Given the description of an element on the screen output the (x, y) to click on. 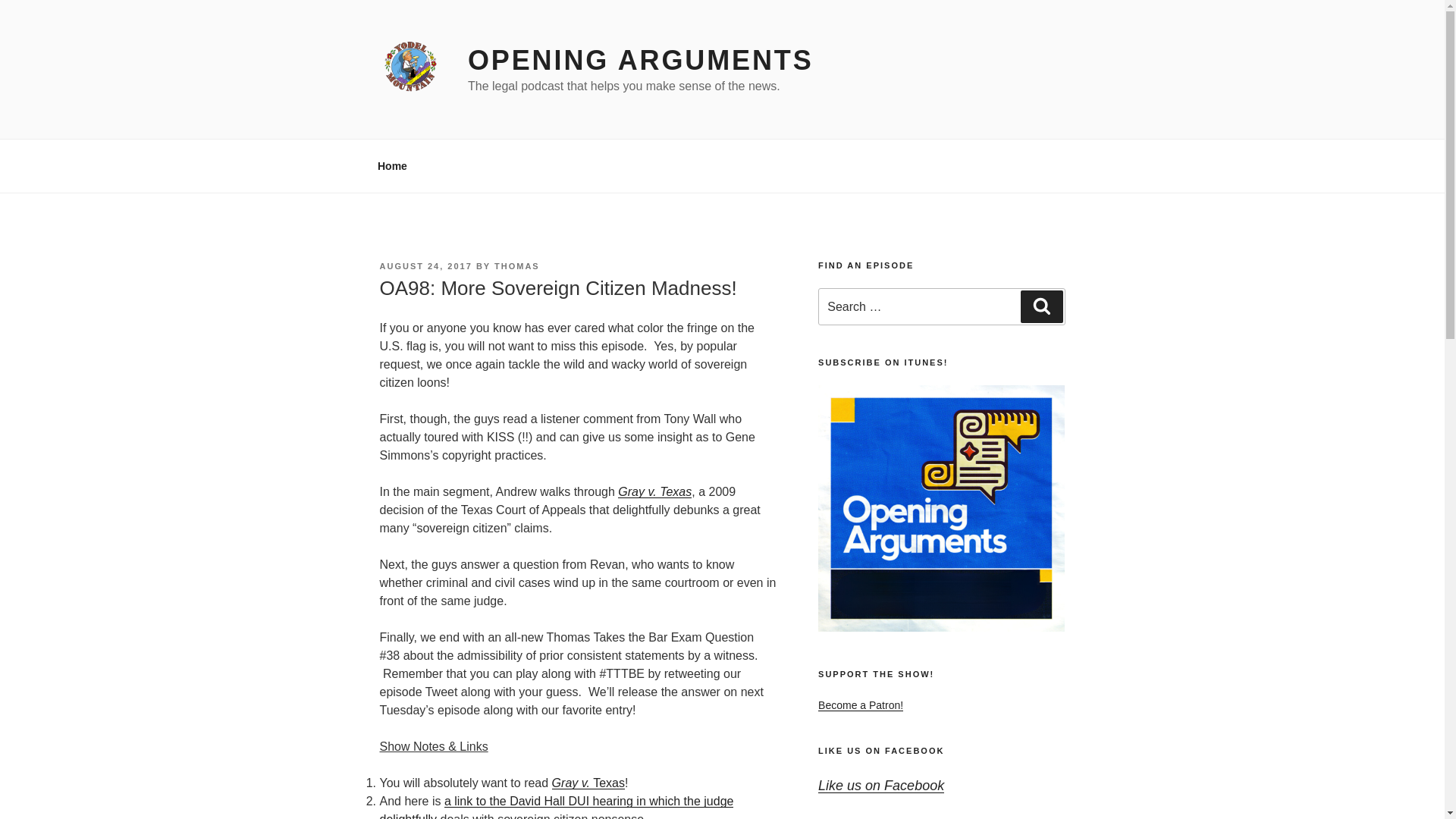
Search (1041, 306)
Become a Patron! (860, 705)
Like us on Facebook (880, 785)
Texas (606, 782)
Gray v. Texas (654, 491)
AUGUST 24, 2017 (424, 266)
OPENING ARGUMENTS (640, 60)
Home (392, 165)
Gray v. (570, 782)
THOMAS (517, 266)
LIKE US ON FACEBOOK (880, 750)
